Given the description of an element on the screen output the (x, y) to click on. 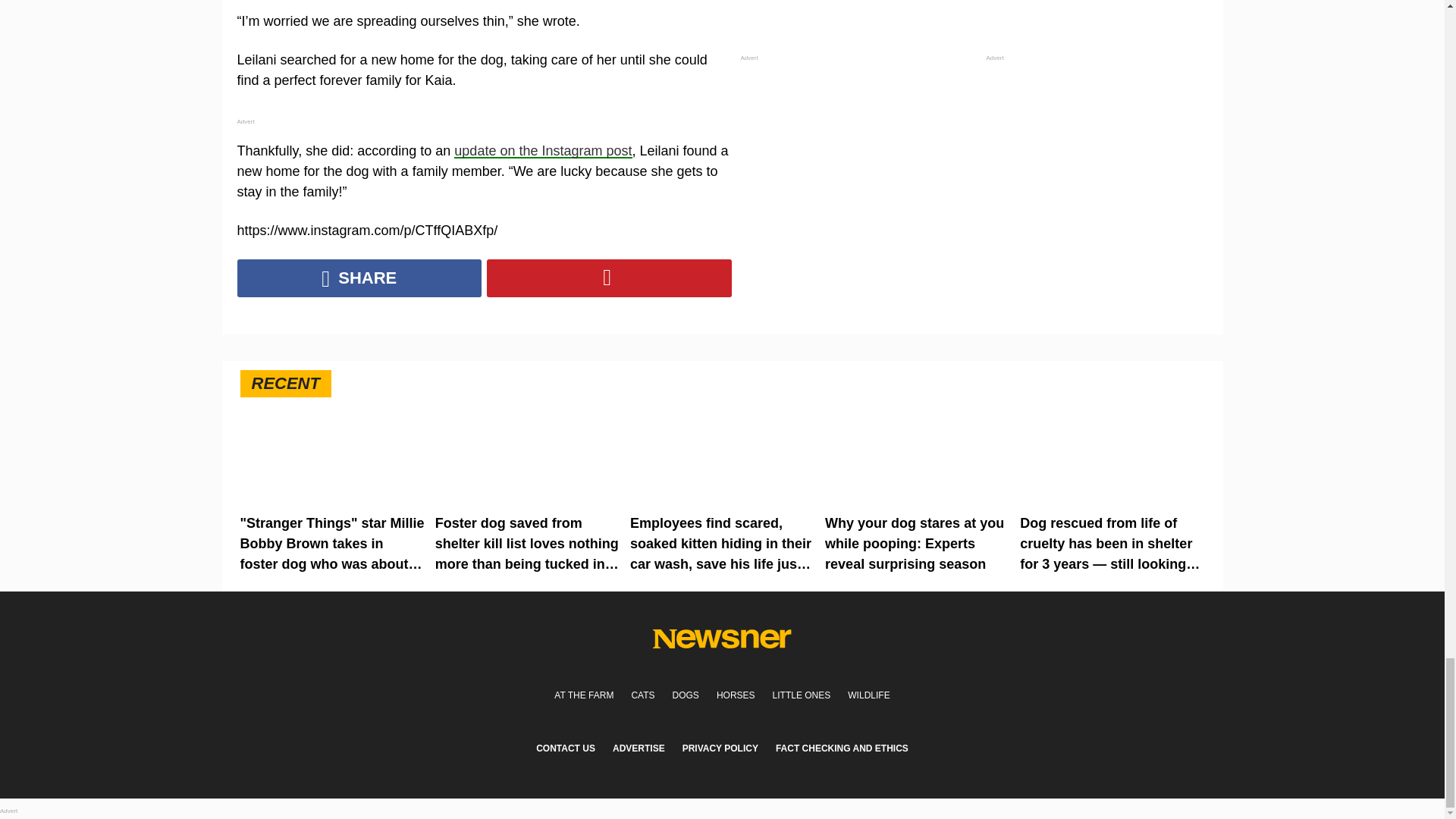
update on the Instagram post (542, 150)
SHARE (358, 278)
